Given the description of an element on the screen output the (x, y) to click on. 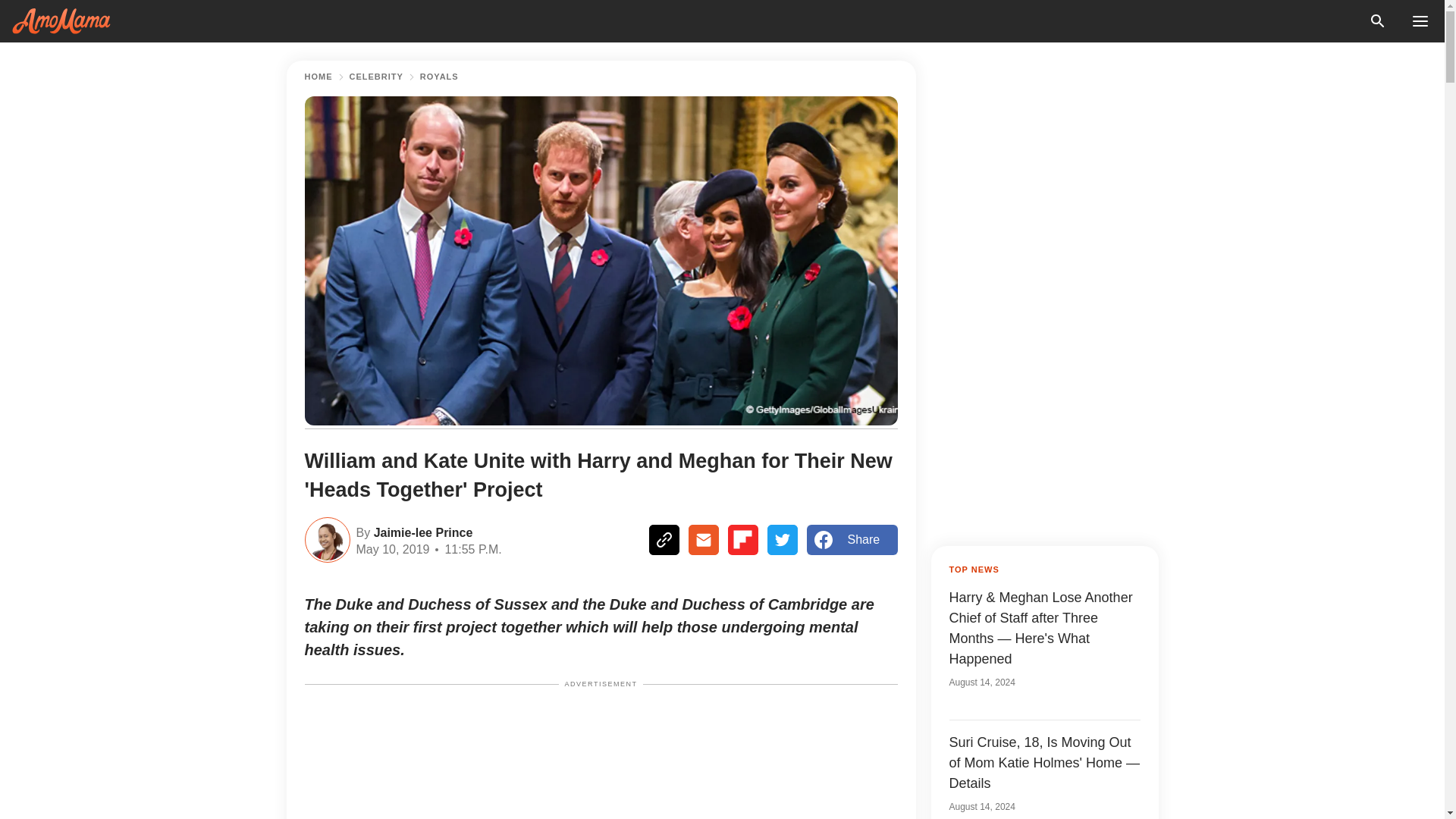
HOME (318, 76)
ROYALS (439, 76)
CELEBRITY (376, 76)
Jaimie-lee Prince (420, 531)
